Given the description of an element on the screen output the (x, y) to click on. 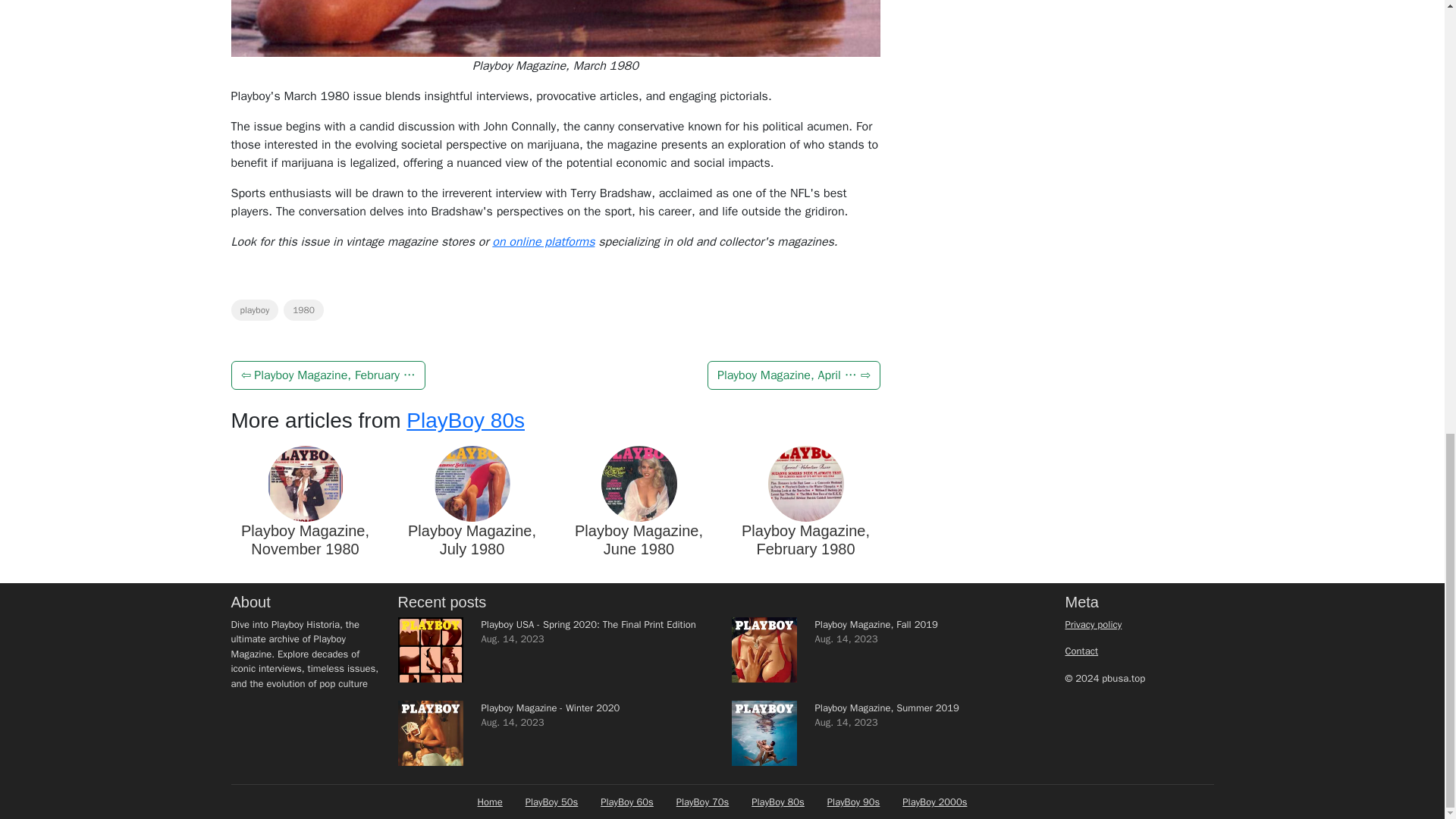
Playboy Magazine, June 1980 (639, 539)
Playboy Magazine, July 1980 (471, 539)
on online platforms (543, 241)
Playboy Magazine, November 1980 (305, 539)
PlayBoy 80s (465, 420)
1980 (303, 310)
Playboy Magazine, February 1980 (805, 539)
playboy (254, 310)
